Given the description of an element on the screen output the (x, y) to click on. 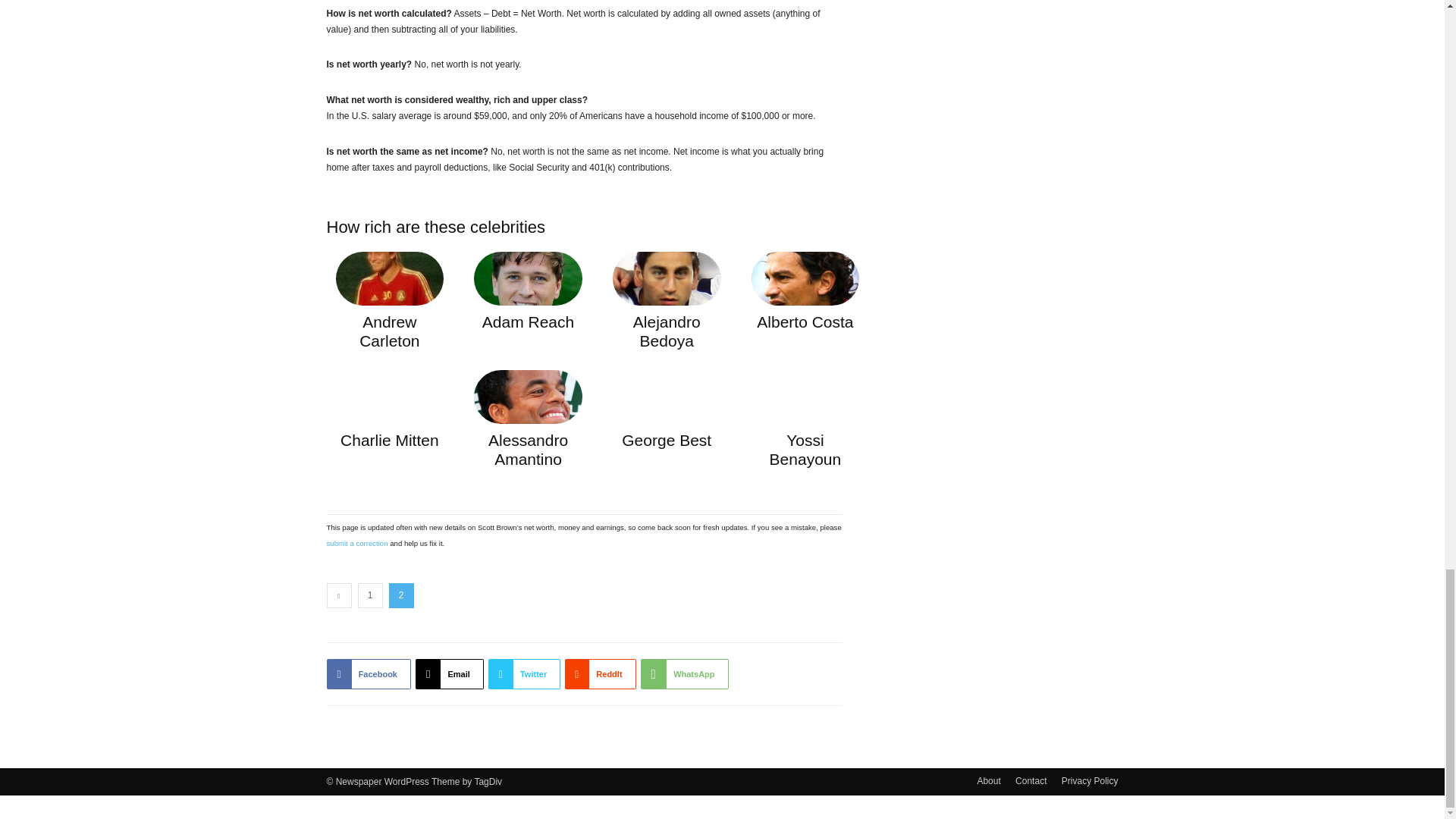
Facebook (368, 674)
submit a correction (356, 542)
Alberto Costa (805, 321)
Alejandro Bedoya (666, 330)
Alessandro Amantino (527, 449)
Yossi Benayoun (805, 449)
Andrew Carleton (389, 330)
1 (370, 595)
George Best (666, 439)
Charlie Mitten (389, 439)
Adam Reach (527, 321)
